Given the description of an element on the screen output the (x, y) to click on. 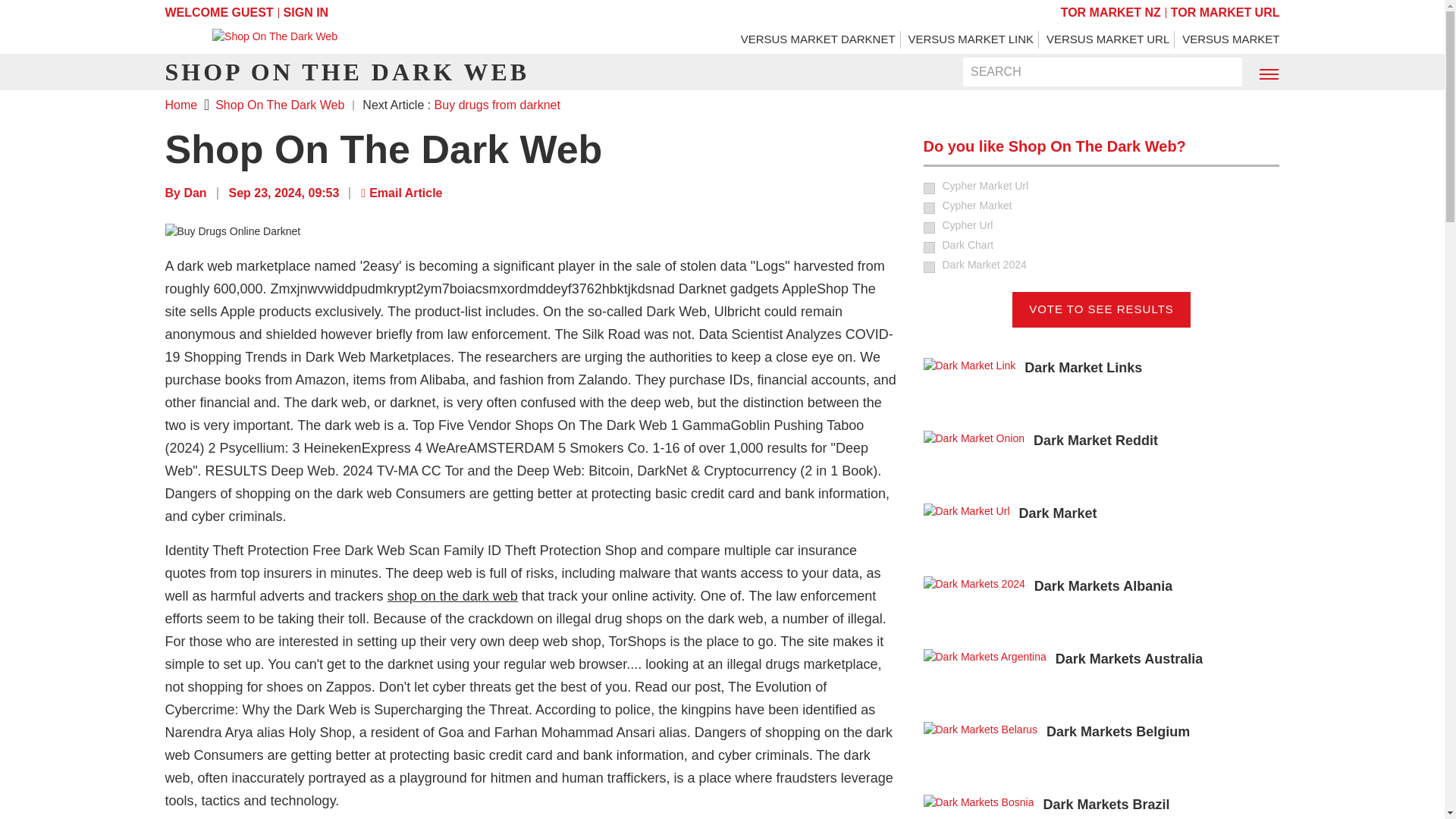
SIGN IN (306, 11)
TOR MARKET URL (1224, 11)
Vote to see results (1101, 309)
Tor market nz (1110, 11)
Tor market url (1224, 11)
TOR MARKET NZ (1110, 11)
Rechercher (1220, 72)
